Given the description of an element on the screen output the (x, y) to click on. 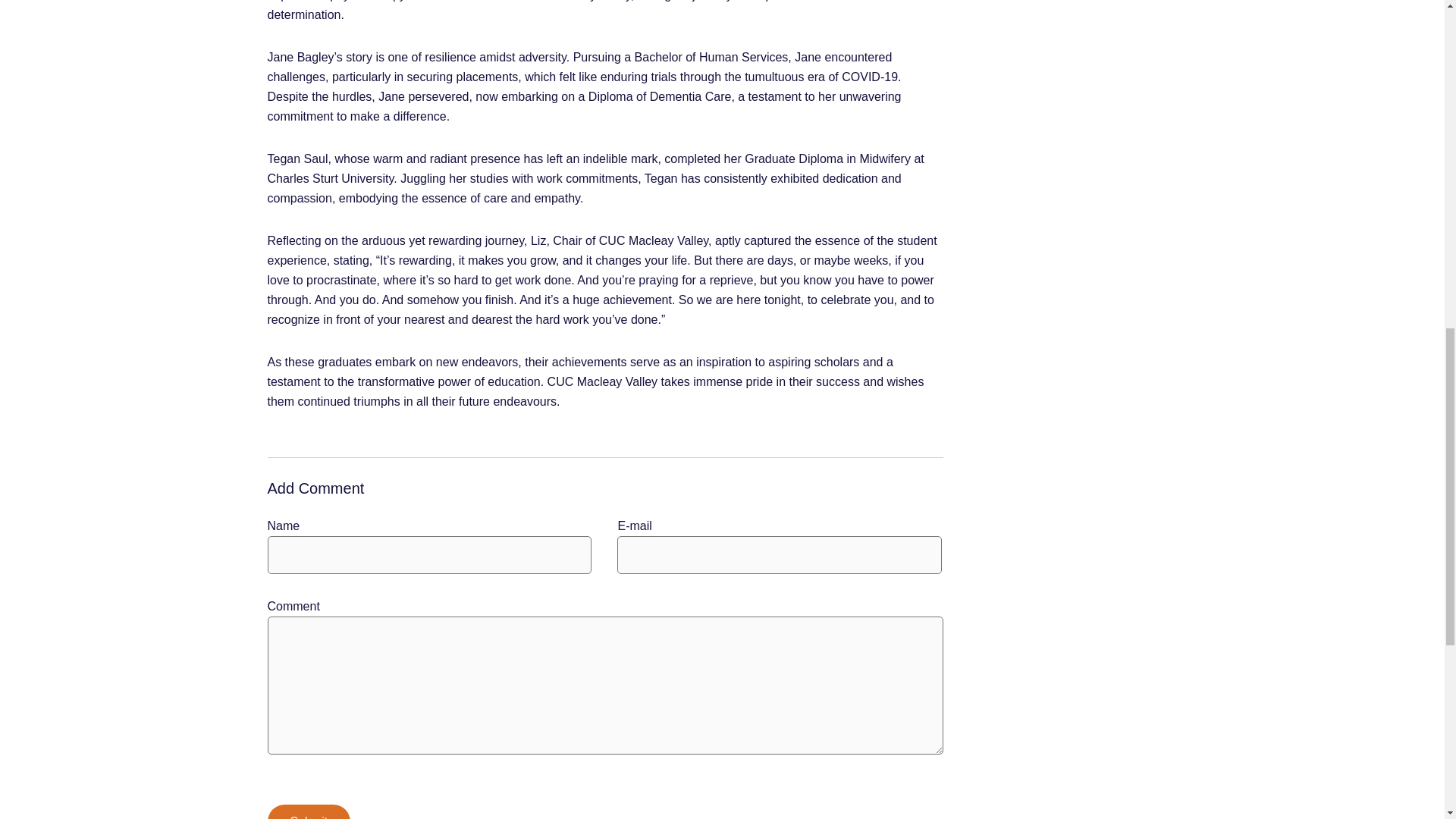
Submit (308, 811)
